Given the description of an element on the screen output the (x, y) to click on. 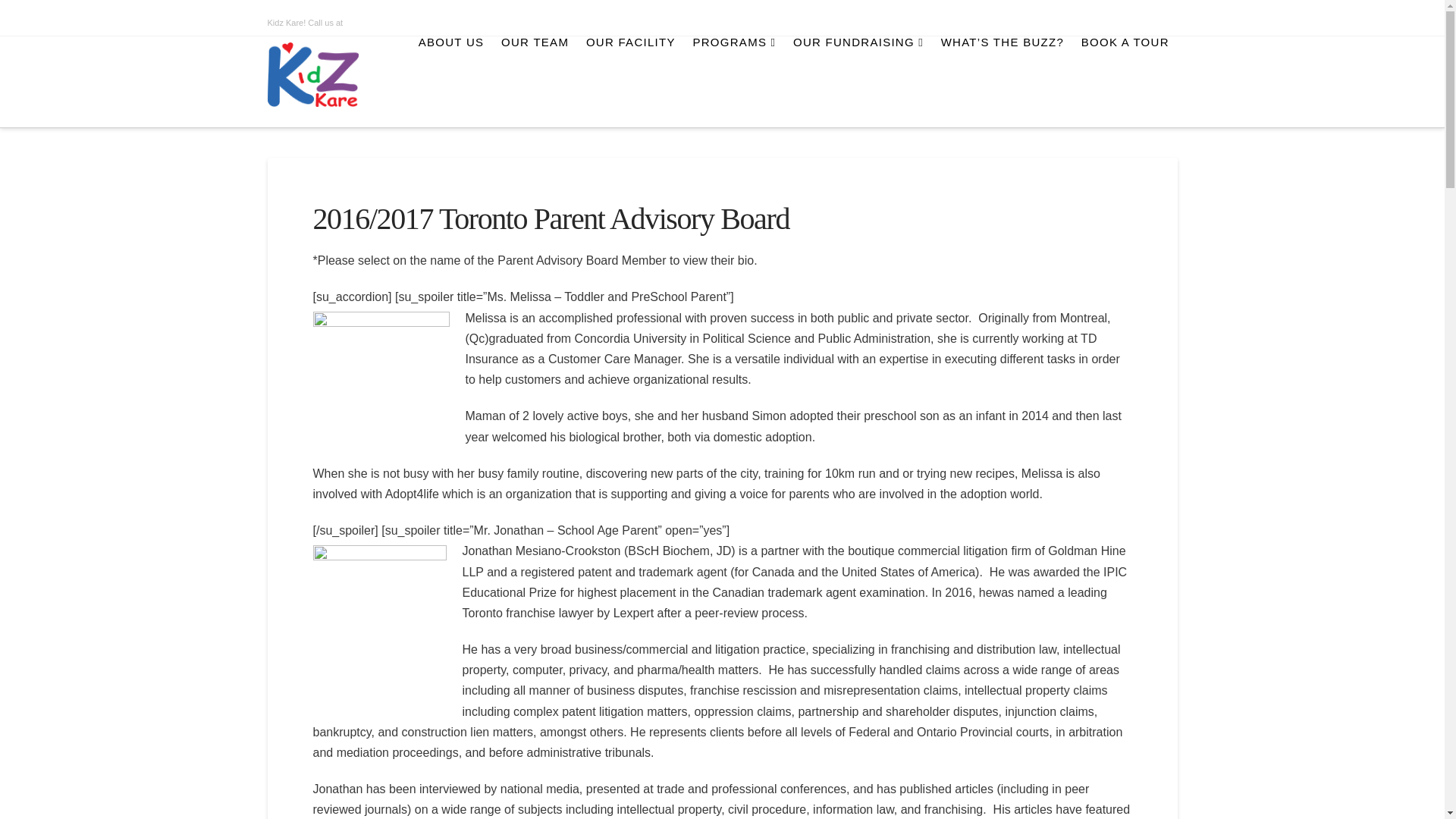
COVID-19 INFO (748, 22)
ABOUT US (450, 81)
OUR FUNDRAISING (857, 81)
OUR FACILITY (630, 81)
BOOK A TOUR (1124, 81)
PROGRAMS (732, 81)
OUR TEAM (534, 81)
